Given the description of an element on the screen output the (x, y) to click on. 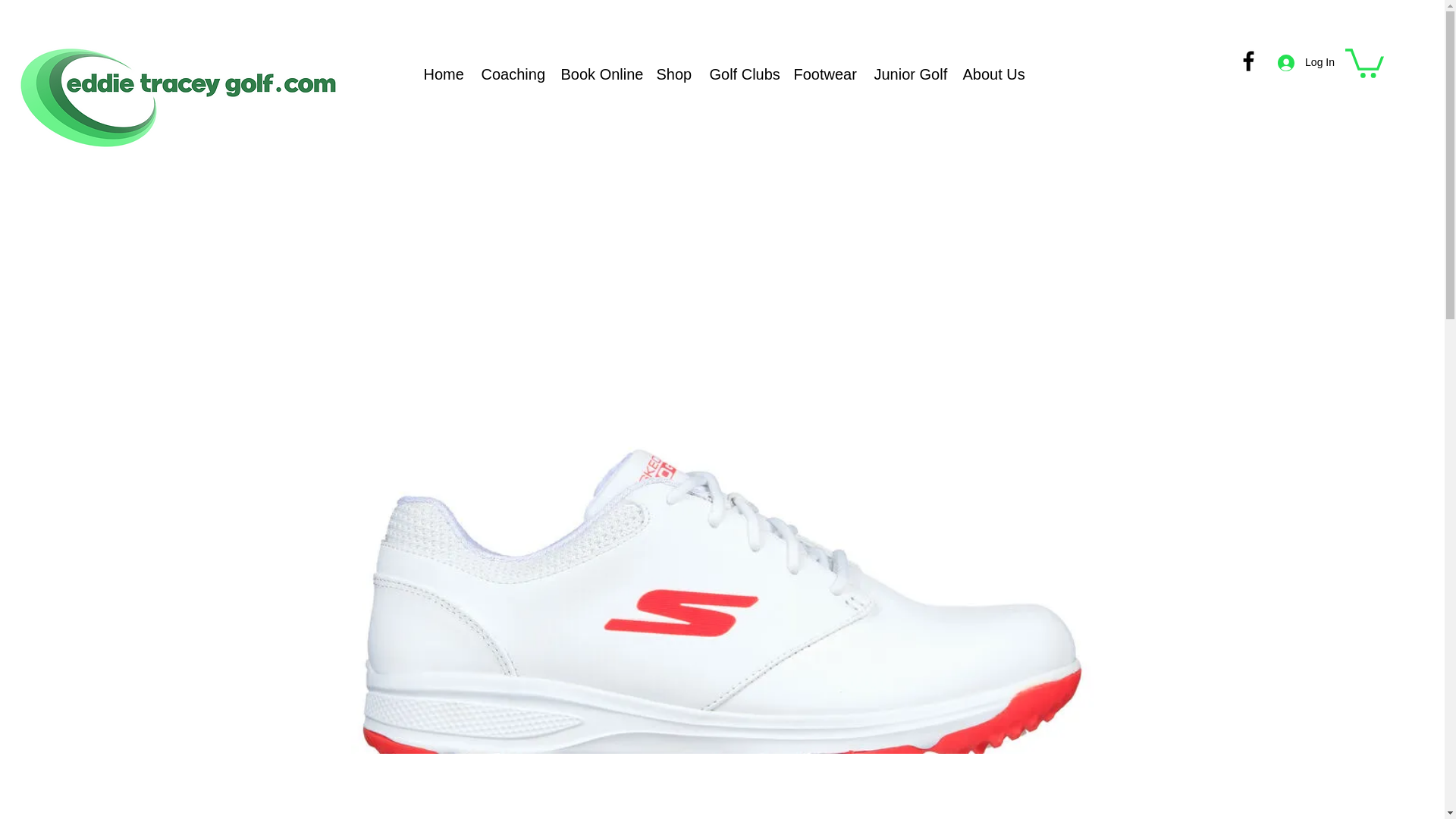
Junior Golf (907, 74)
Book Online (596, 74)
Log In (1305, 62)
